Given the description of an element on the screen output the (x, y) to click on. 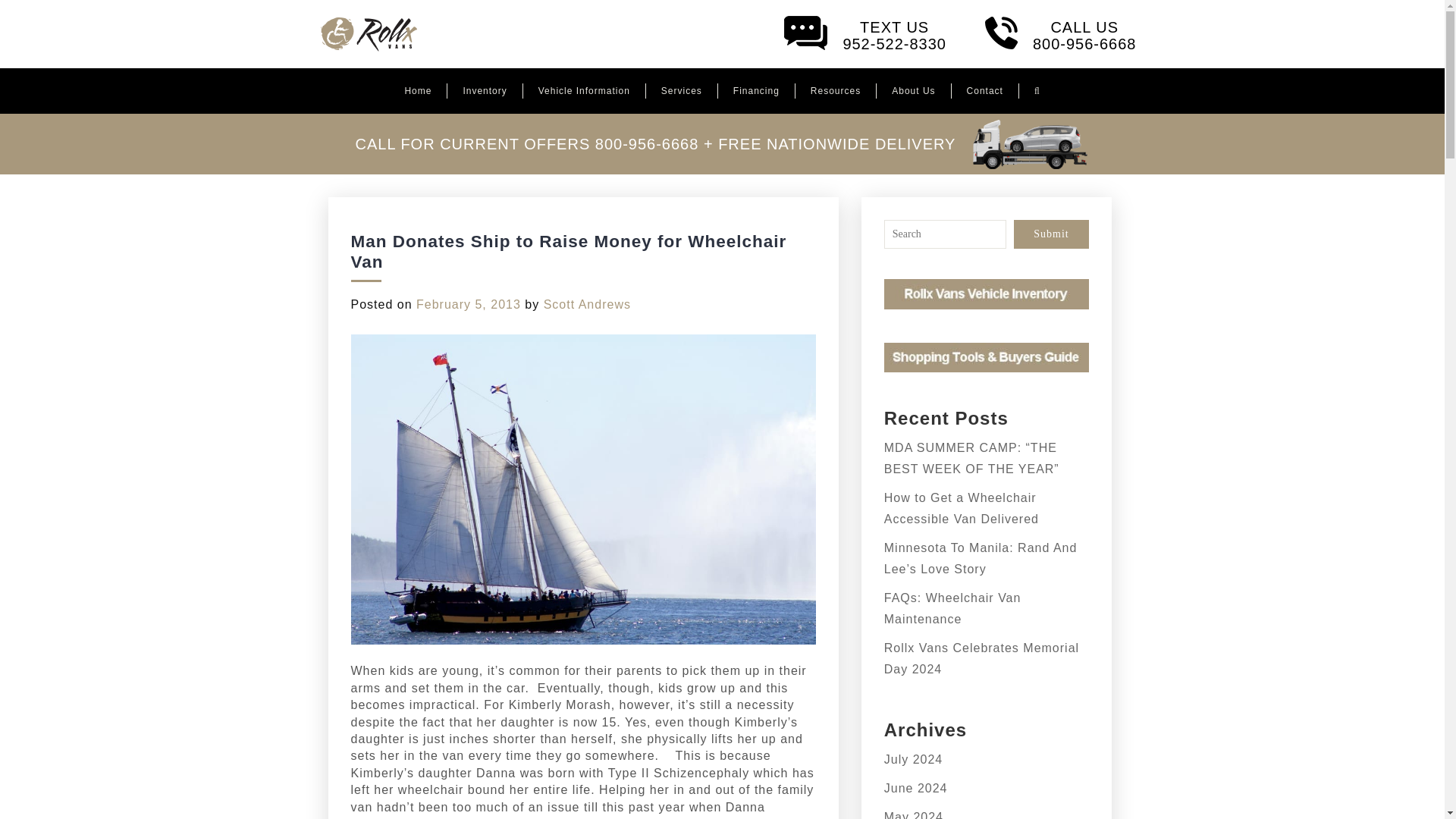
Vehicle Information (584, 90)
Services (681, 90)
Search (853, 33)
Resources (1037, 90)
Home (835, 90)
Inventory (1044, 33)
Financing (417, 90)
